Given the description of an element on the screen output the (x, y) to click on. 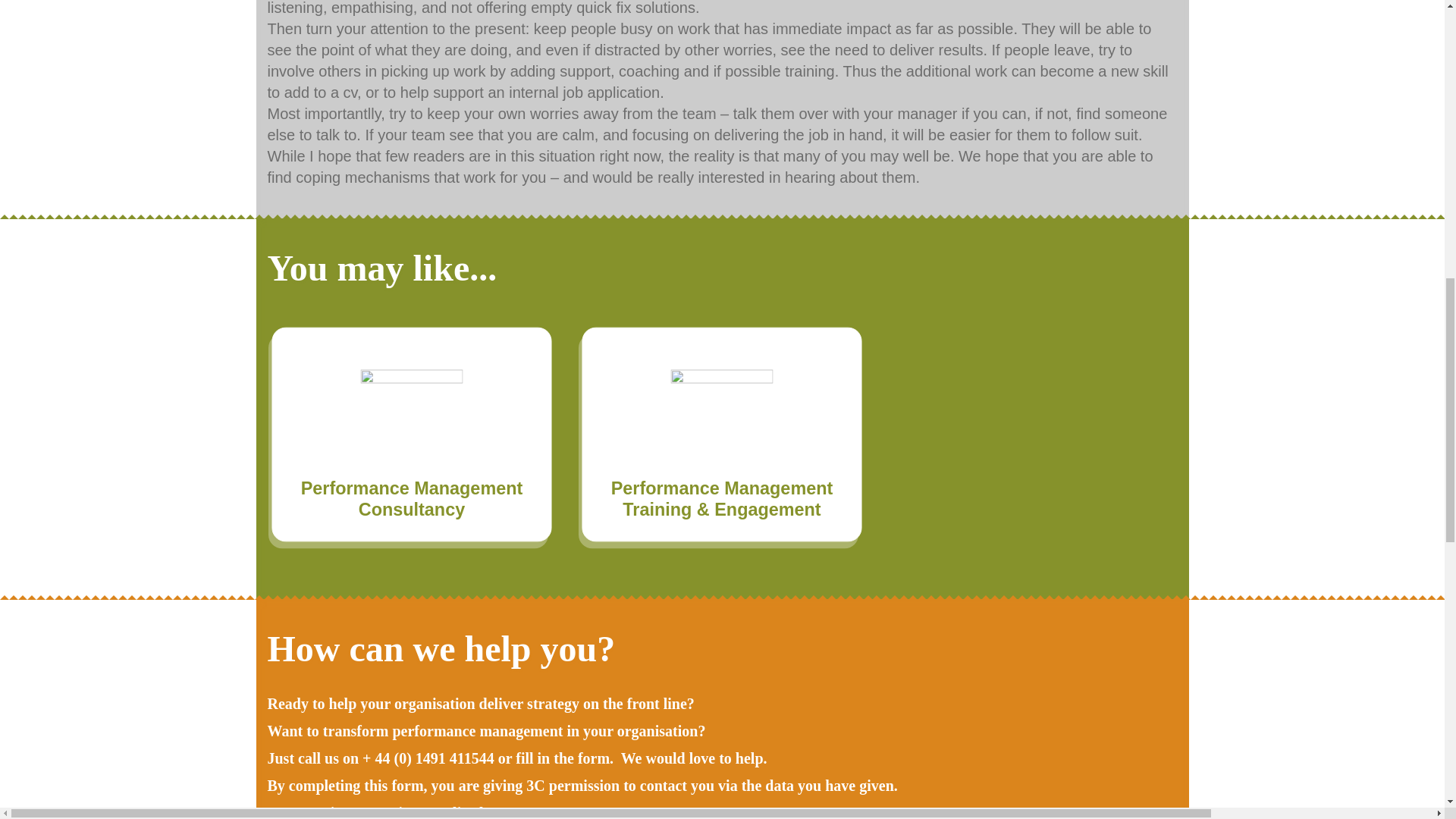
rocket2 (727, 425)
here. (495, 811)
jumpstart (416, 425)
Performance Management Consultancy (423, 500)
